Given the description of an element on the screen output the (x, y) to click on. 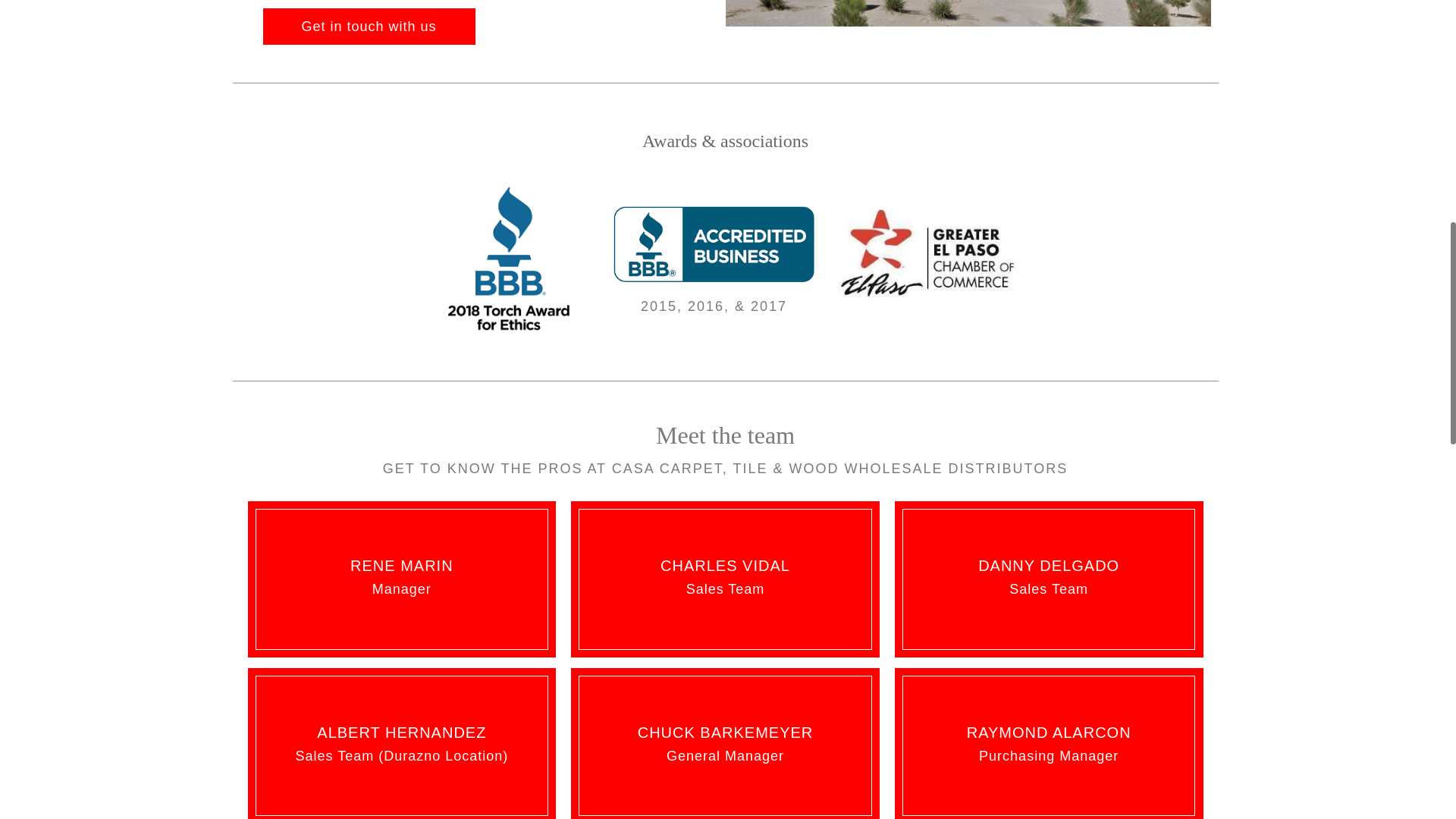
download (511, 258)
download-1 (712, 243)
Get in touch with us (368, 25)
download (928, 255)
